Given the description of an element on the screen output the (x, y) to click on. 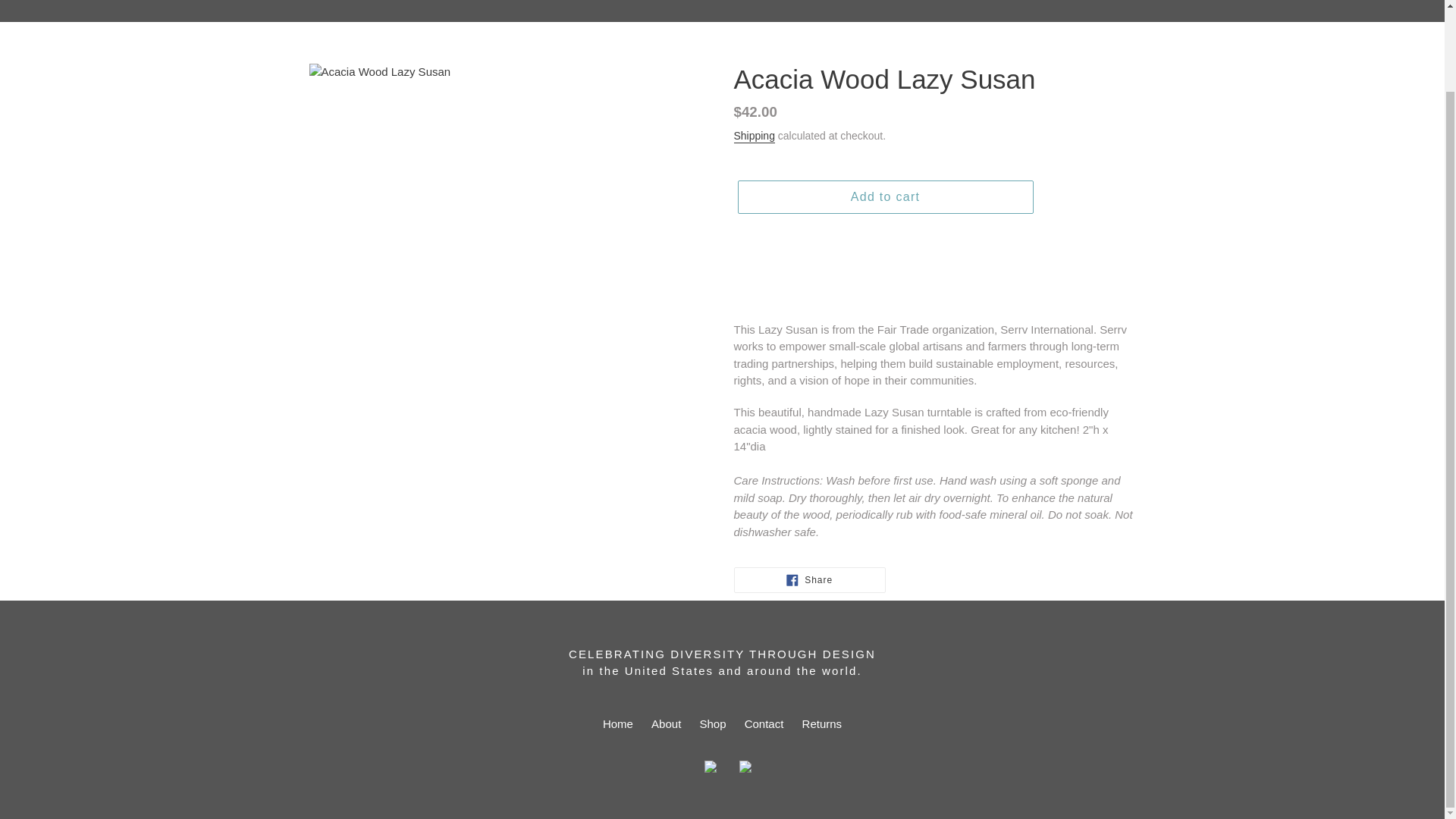
Shipping (753, 136)
Home (617, 724)
About (665, 724)
Returns (822, 724)
Contact (764, 724)
Add to cart (809, 579)
Shop (884, 196)
